Given the description of an element on the screen output the (x, y) to click on. 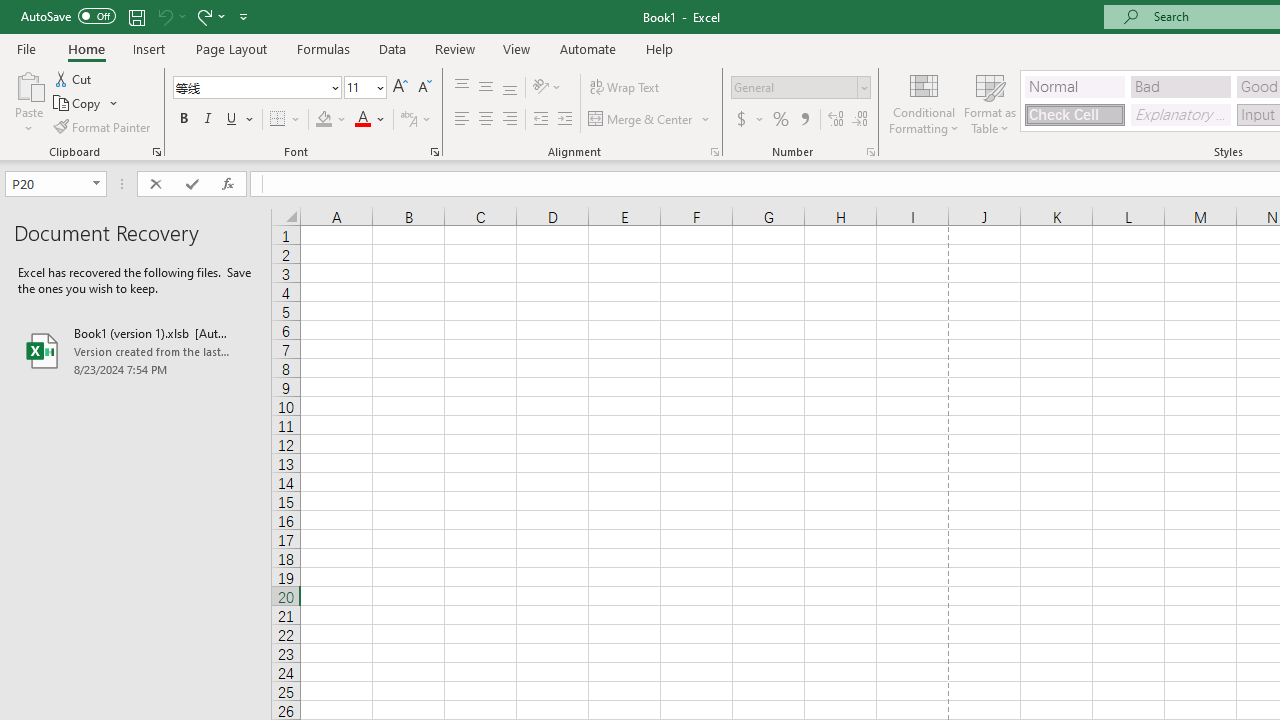
Increase Decimal (836, 119)
Font (250, 87)
Underline (232, 119)
Center (485, 119)
Orientation (547, 87)
Comma Style (804, 119)
Copy (78, 103)
Borders (285, 119)
Decrease Font Size (424, 87)
Show Phonetic Field (416, 119)
Middle Align (485, 87)
Decrease Indent (540, 119)
Align Left (461, 119)
